Given the description of an element on the screen output the (x, y) to click on. 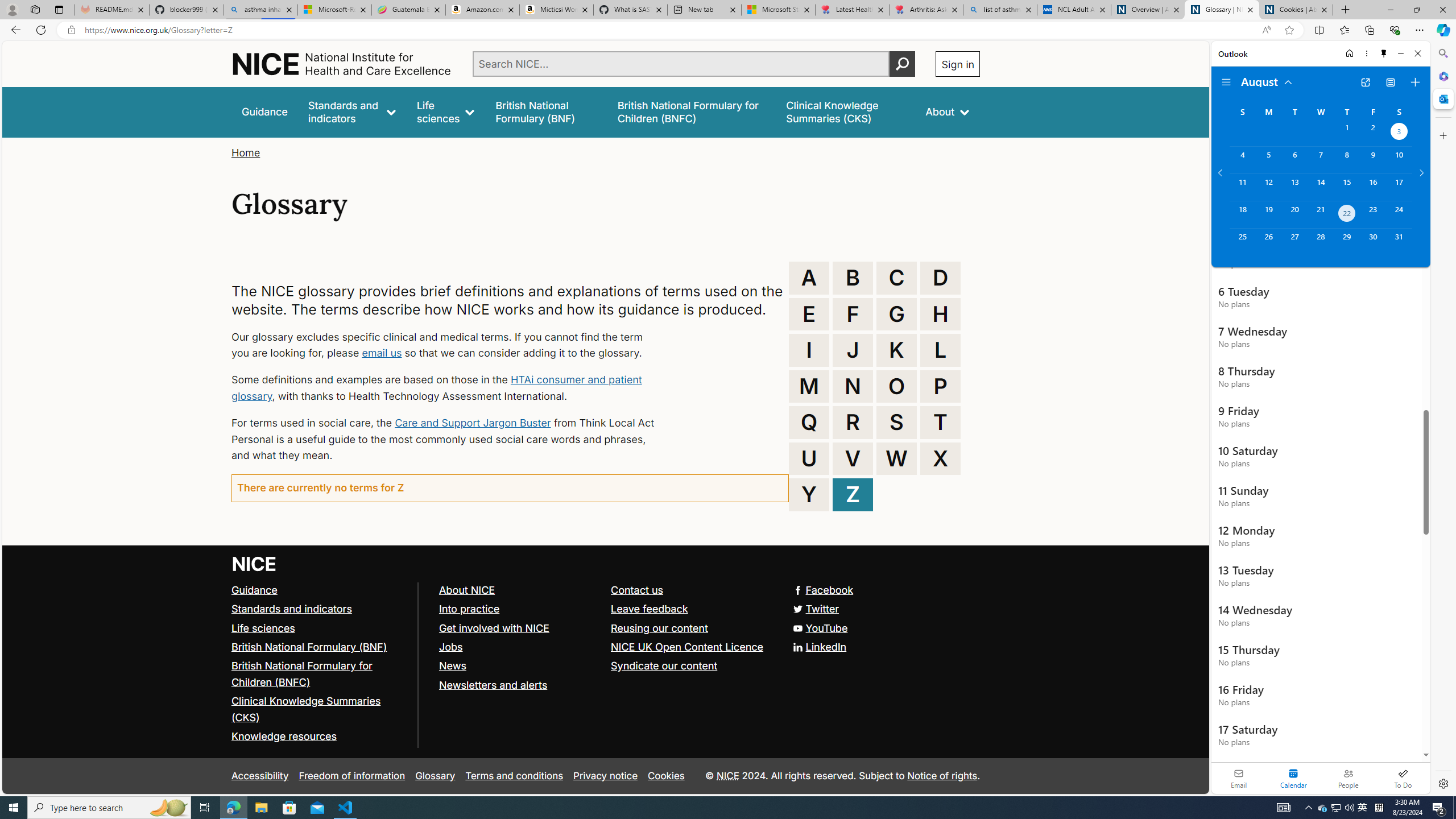
I (809, 350)
Cookies (665, 775)
Glossary (434, 775)
N (852, 385)
J (852, 350)
Thursday, August 8, 2024.  (1346, 159)
Terms and conditions (514, 775)
asthma inhaler - Search (260, 9)
X (940, 458)
Saturday, August 17, 2024.  (1399, 186)
W (896, 458)
